Given the description of an element on the screen output the (x, y) to click on. 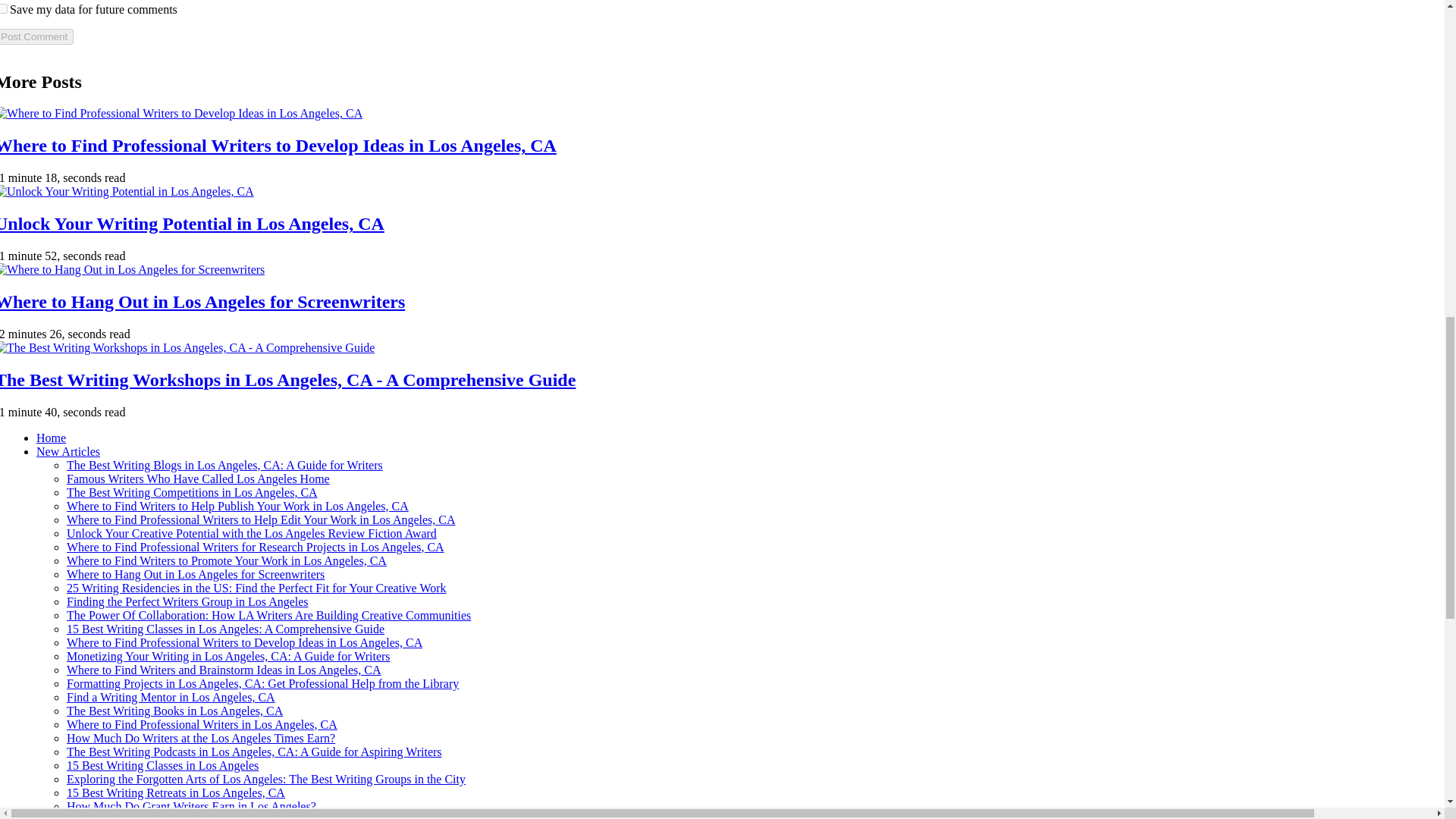
Unlock Your Writing Potential in Los Angeles, CA (192, 223)
Finding the Perfect Writers Group in Los Angeles (187, 601)
Home (50, 437)
Where to Hang Out in Los Angeles for Screenwriters (202, 301)
Where to Hang Out in Los Angeles for Screenwriters (195, 574)
Post Comment (37, 36)
